Given the description of an element on the screen output the (x, y) to click on. 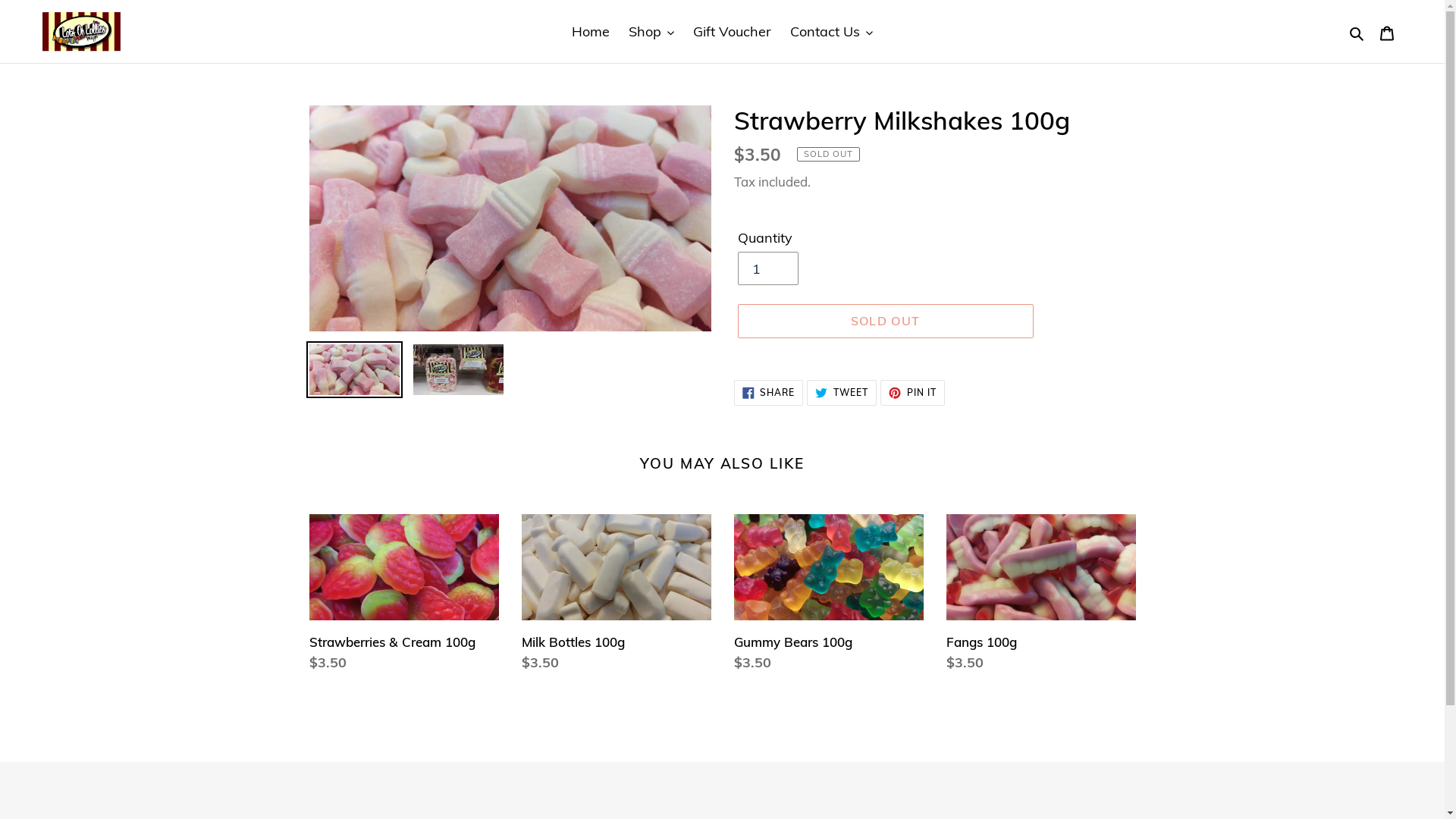
Cart Element type: text (1386, 31)
SOLD OUT Element type: text (884, 320)
Gift Voucher Element type: text (731, 30)
Shop Element type: text (651, 30)
SHARE
SHARE ON FACEBOOK Element type: text (768, 392)
Home Element type: text (590, 30)
Milk Bottles 100g Element type: text (616, 596)
Fangs 100g Element type: text (1040, 596)
PIN IT
PIN ON PINTEREST Element type: text (912, 392)
Search Element type: text (1357, 31)
Strawberries & Cream 100g Element type: text (403, 596)
TWEET
TWEET ON TWITTER Element type: text (841, 392)
Gummy Bears 100g Element type: text (828, 596)
Contact Us Element type: text (831, 30)
